Given the description of an element on the screen output the (x, y) to click on. 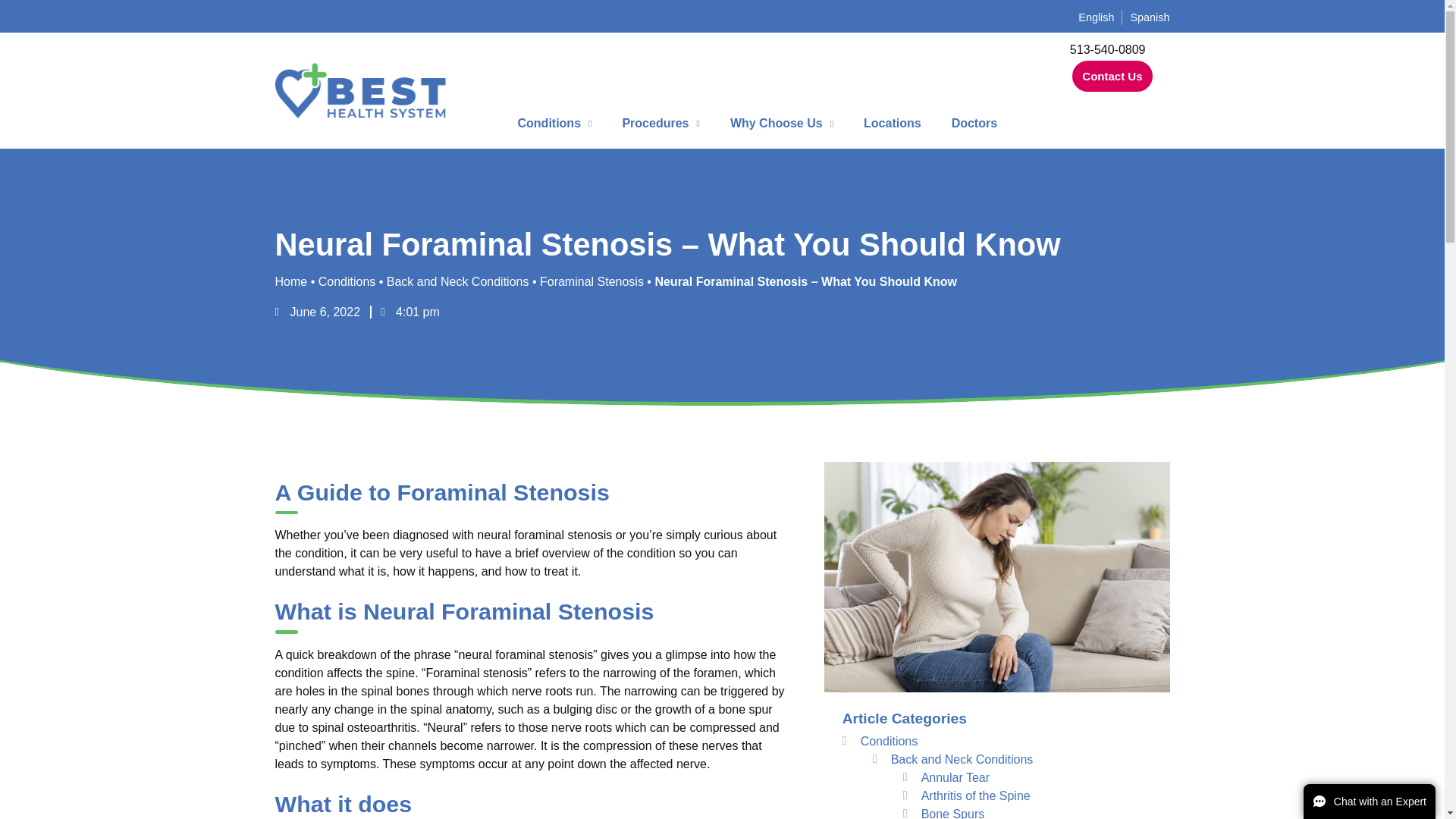
Why Choose Us (781, 123)
Conditions (554, 123)
Spanish (1149, 17)
Locations (892, 123)
Doctors (973, 123)
513-540-0809 (1107, 49)
Contact Us (1111, 75)
English (1095, 17)
Procedures (660, 123)
